Given the description of an element on the screen output the (x, y) to click on. 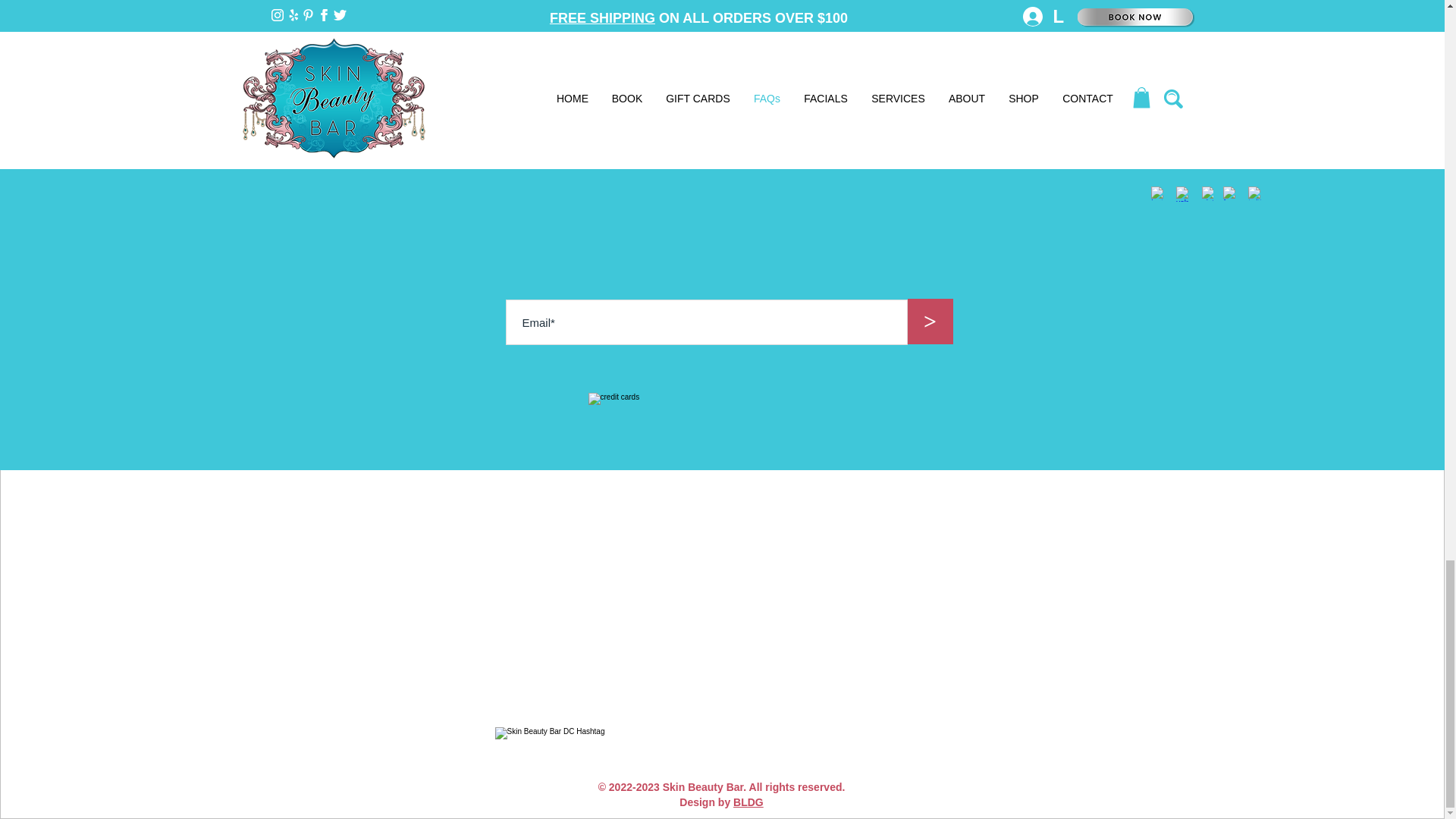
credit cards (726, 422)
facebook-white-NOCIRCLE.png (1229, 192)
Skin Beauty Bar DC Hashtag (722, 743)
instagram-white-NOCIRCLE.png (1157, 192)
